Given the description of an element on the screen output the (x, y) to click on. 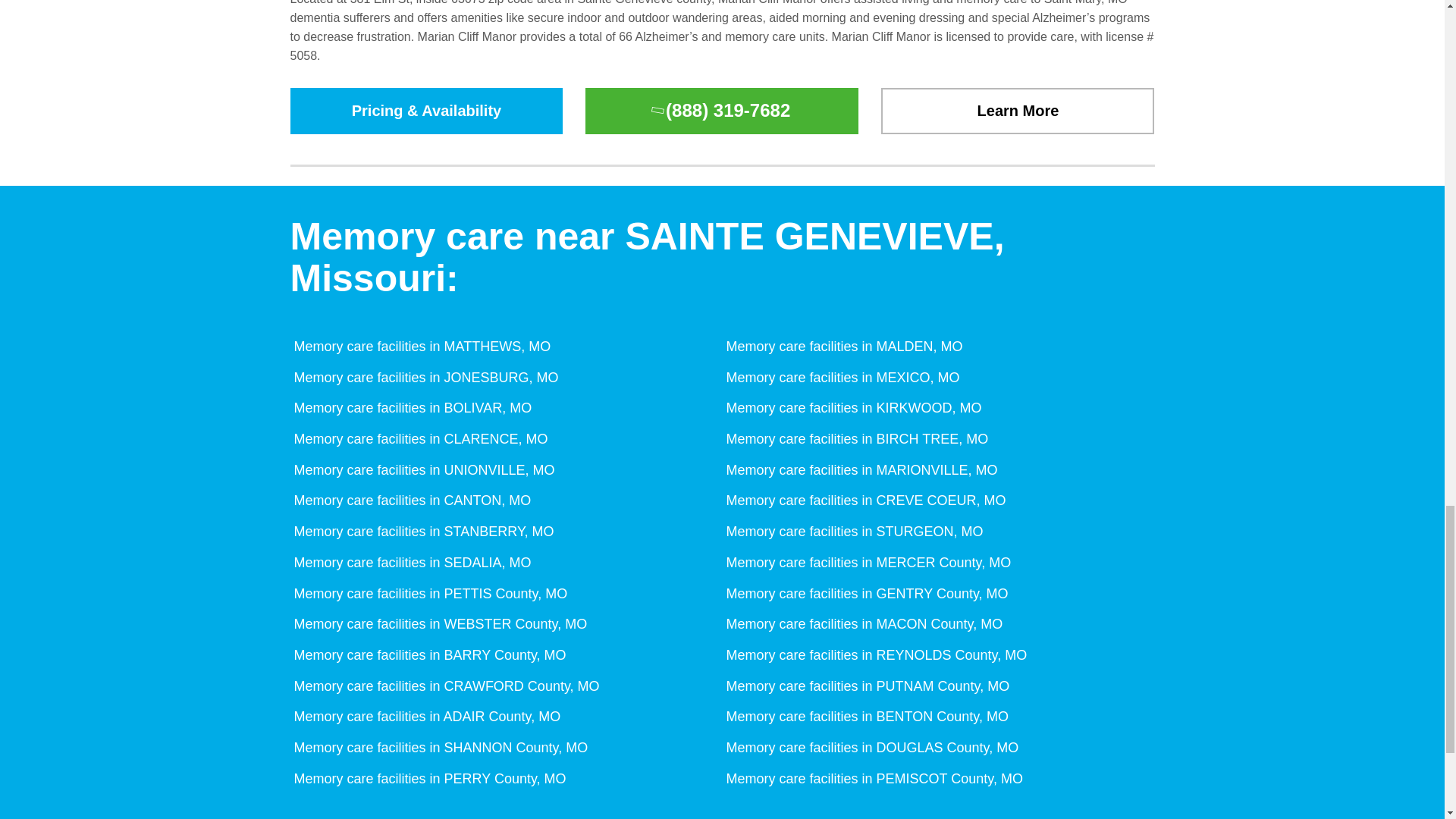
Memory care facilities in KIRKWOOD, MO (851, 407)
Memory care facilities in CANTON, MO (410, 500)
Memory care facilities in MEXICO, MO (840, 377)
Memory care facilities in CLARENCE, MO (418, 438)
Memory care facilities in JONESBURG, MO (423, 377)
Memory care facilities in MATTHEWS, MO (419, 346)
Memory care facilities in BOLIVAR, MO (410, 407)
Memory care facilities in MALDEN, MO (842, 346)
Learn More (1017, 110)
Memory care facilities in MARIONVILLE, MO (859, 469)
Memory care facilities in UNIONVILLE, MO (421, 469)
Learn More (1017, 110)
Memory care facilities in BIRCH TREE, MO (855, 438)
